Given the description of an element on the screen output the (x, y) to click on. 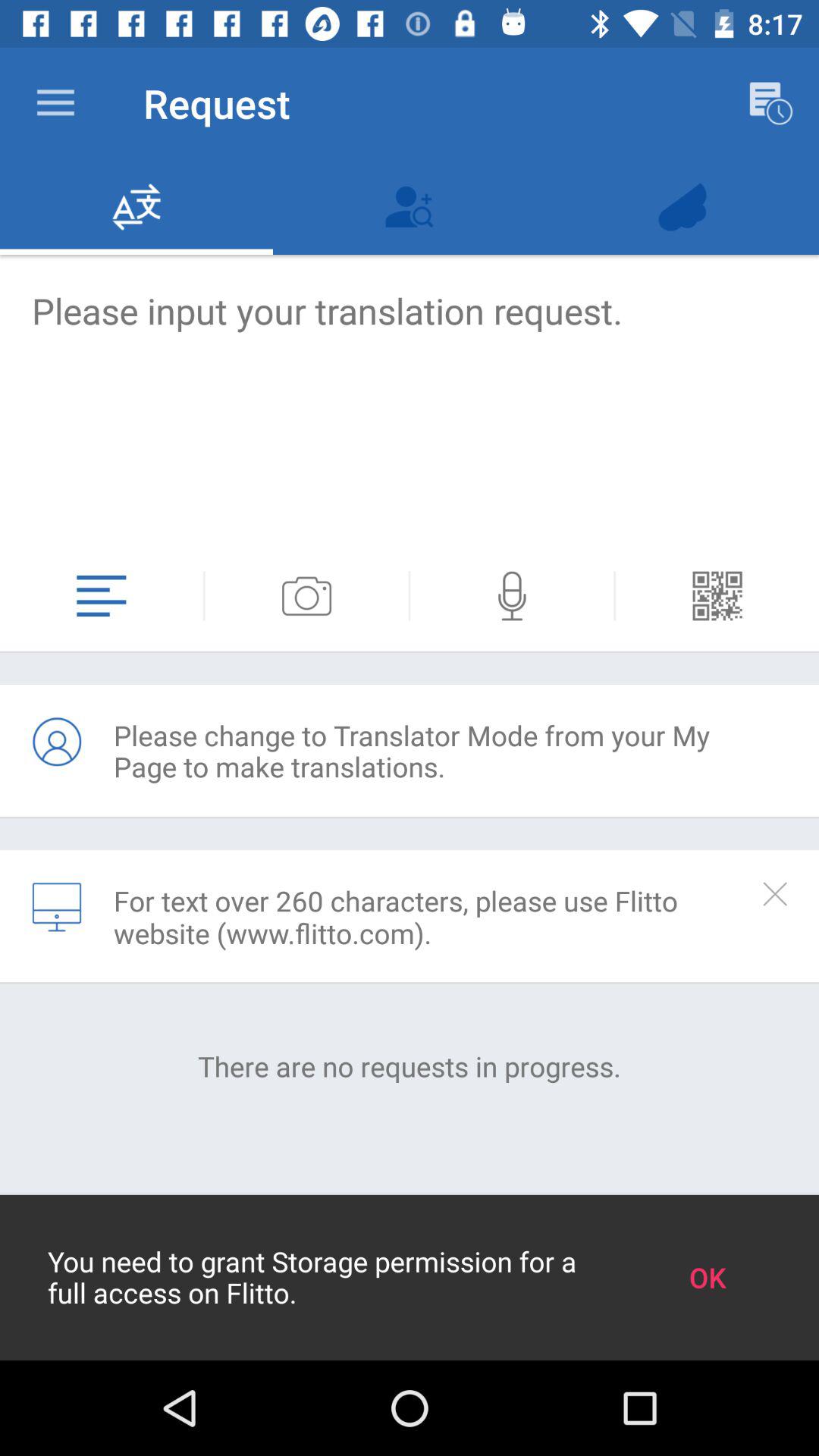
open icon above the there are no icon (430, 917)
